Given the description of an element on the screen output the (x, y) to click on. 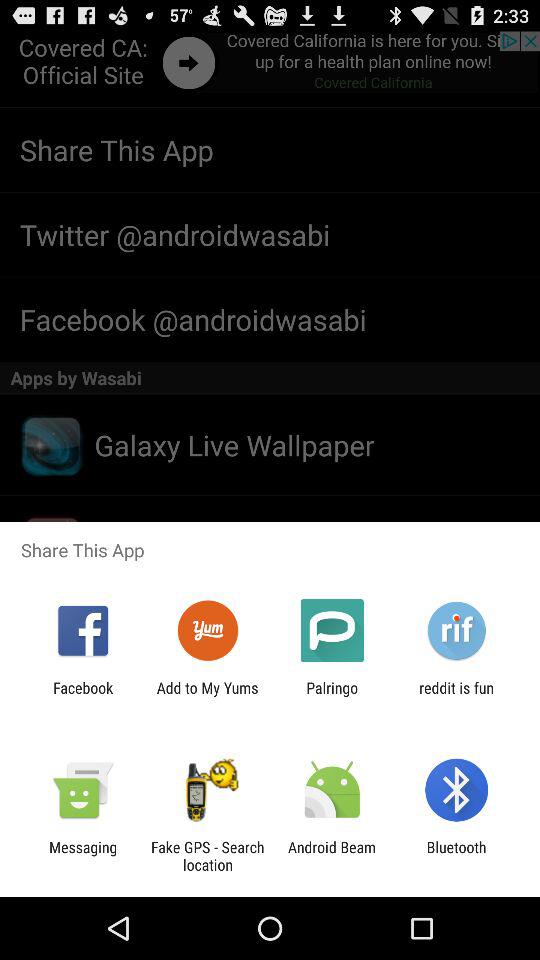
swipe to the palringo item (332, 696)
